Given the description of an element on the screen output the (x, y) to click on. 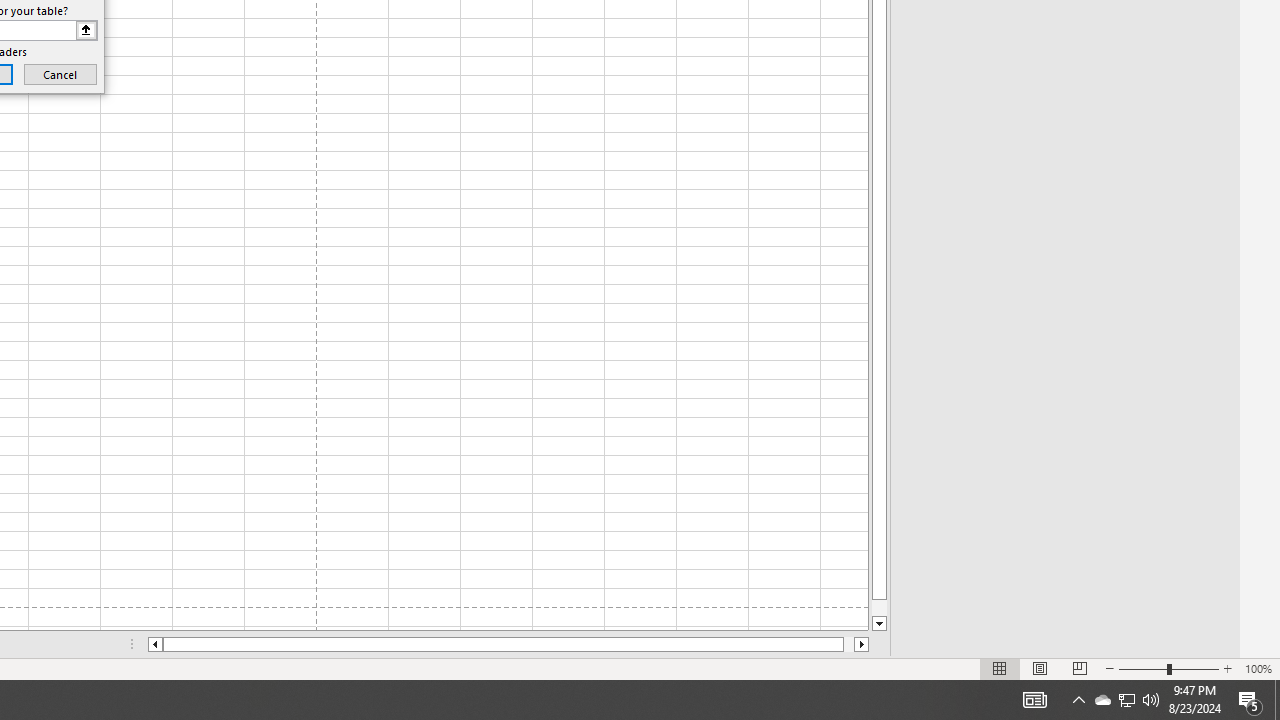
Page Break Preview (1079, 668)
Zoom (1168, 668)
Line down (879, 624)
Normal (1000, 668)
Page right (848, 644)
Zoom Out (1142, 668)
Class: NetUIScrollBar (507, 644)
Page down (879, 607)
Column left (153, 644)
Zoom In (1227, 668)
Page Layout (1039, 668)
Column right (861, 644)
